Given the description of an element on the screen output the (x, y) to click on. 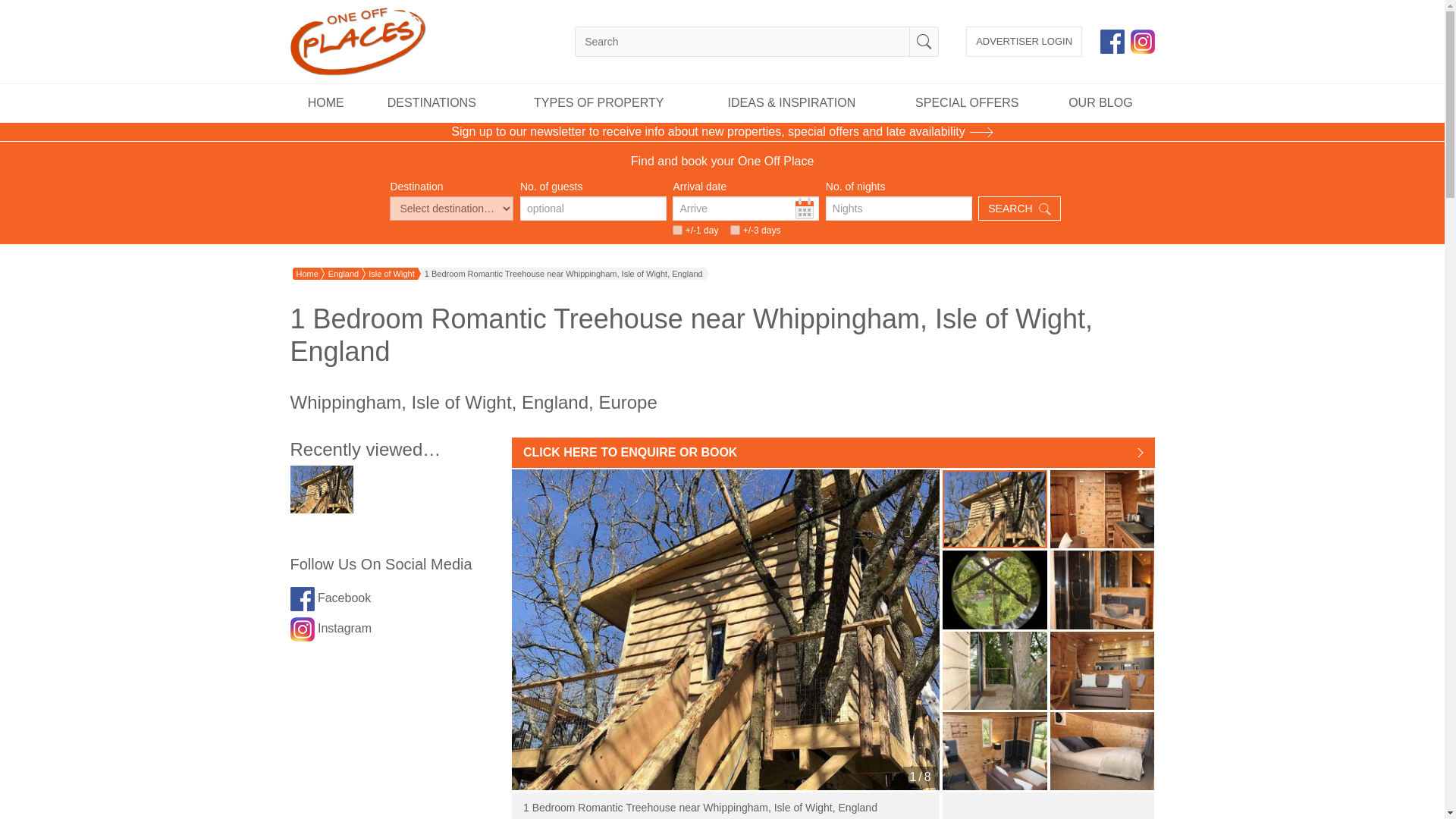
Follow us on Facebook (1112, 41)
Follow us on Facebook (301, 598)
1 (677, 230)
Follow us on Instagram (1141, 41)
1 (734, 230)
One Off Places (357, 41)
Window views (994, 589)
Search (924, 41)
The Nest Treehouse (994, 508)
Deck (994, 670)
ADVERTISER LOGIN (1023, 41)
Follow us on Instagram (301, 629)
